Given the description of an element on the screen output the (x, y) to click on. 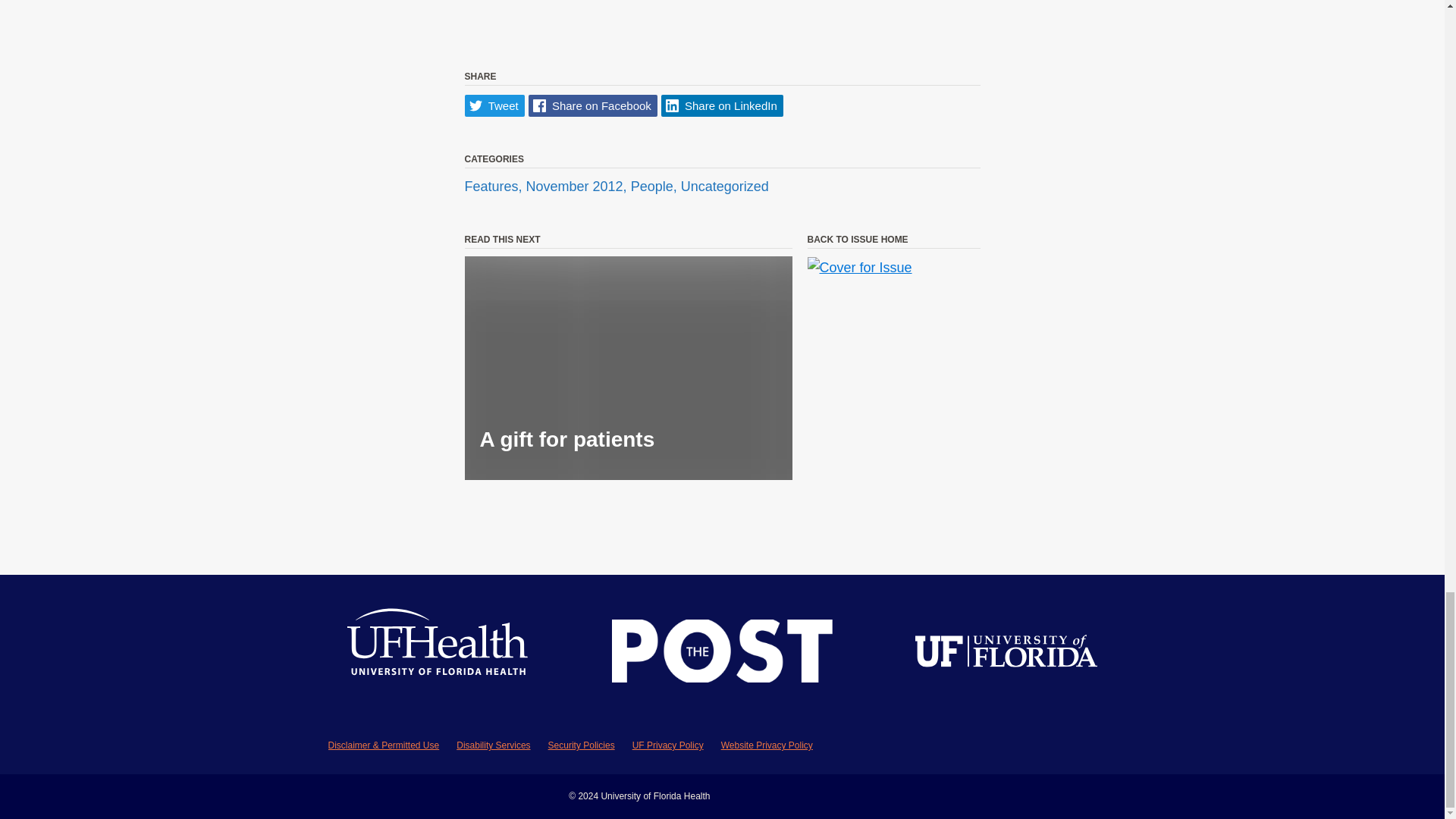
University of Florida (1005, 653)
Website Privacy Policy (766, 745)
UF Privacy Policy (667, 745)
Features, (494, 186)
Publication Logo (721, 653)
Disability Services (493, 745)
Tweet (494, 106)
People, (655, 186)
University of Florida Logo (1005, 653)
UF Health (437, 653)
November 2012, (577, 186)
A gift for patients (628, 367)
UF Health Logo (437, 653)
Uncategorized (724, 186)
Security Policies (581, 745)
